Given the description of an element on the screen output the (x, y) to click on. 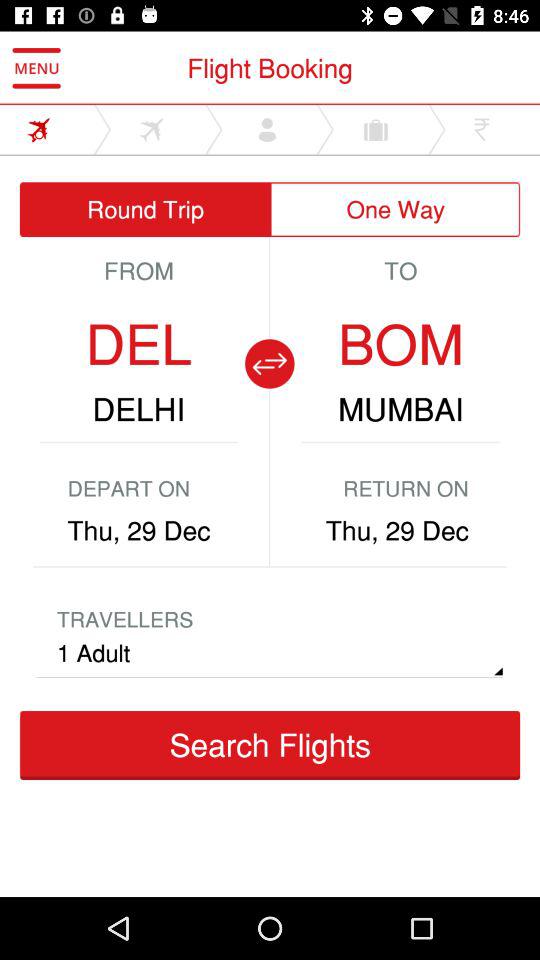
tap item to the left of one way item (145, 209)
